Given the description of an element on the screen output the (x, y) to click on. 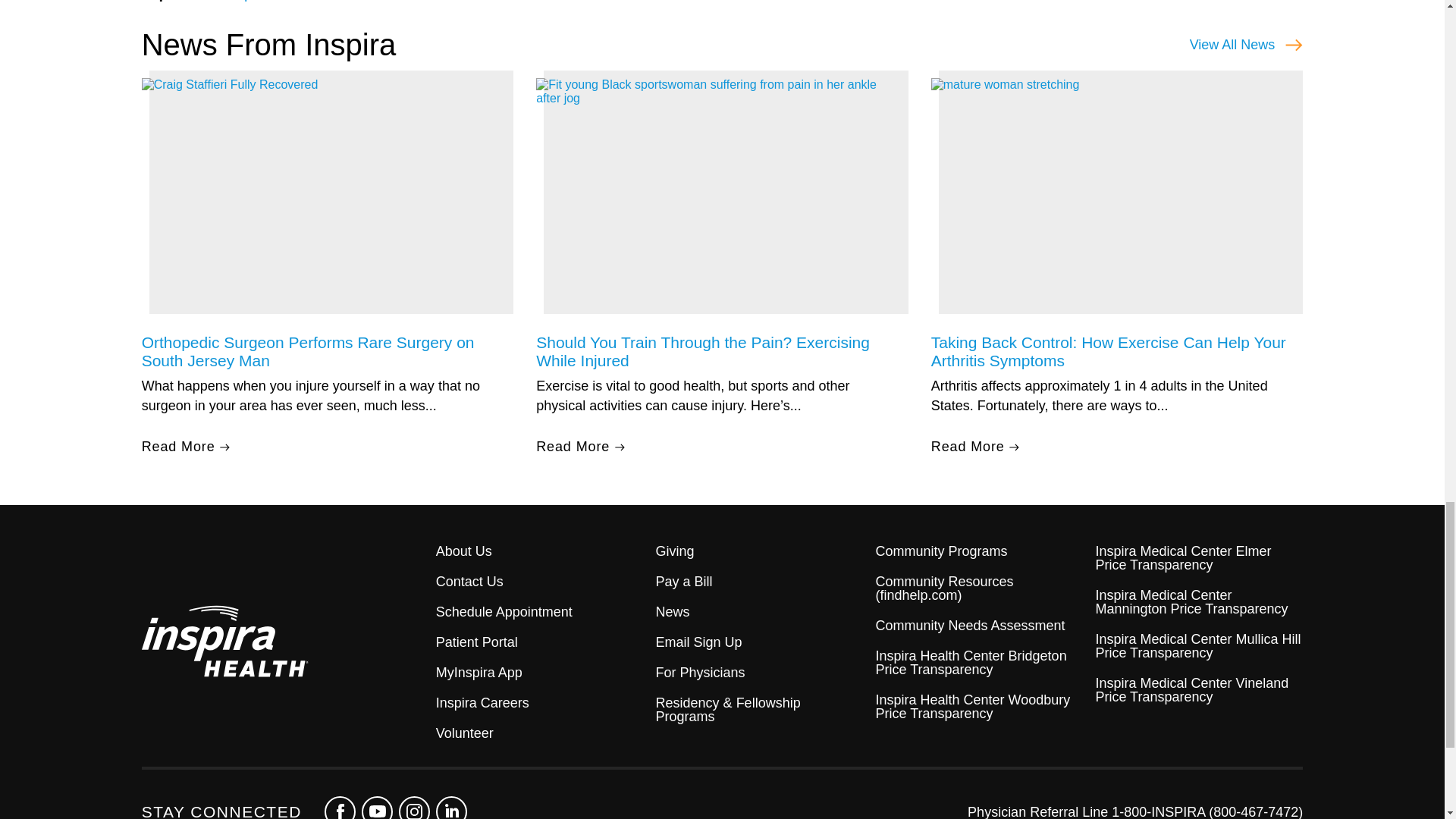
Go to MyInspira App (539, 672)
Go to Giving (759, 550)
Orthopedic Services (274, 0)
Go to About Us (539, 550)
Go to Volunteer (539, 733)
Go to Contact Us (539, 581)
Go to Schedule Appointment (539, 612)
Go to Home Page (288, 642)
Go to News (759, 612)
Go to Patient Portal (539, 642)
Go to Pay a Bill (759, 581)
Go to Inspira Careers (539, 703)
